Given the description of an element on the screen output the (x, y) to click on. 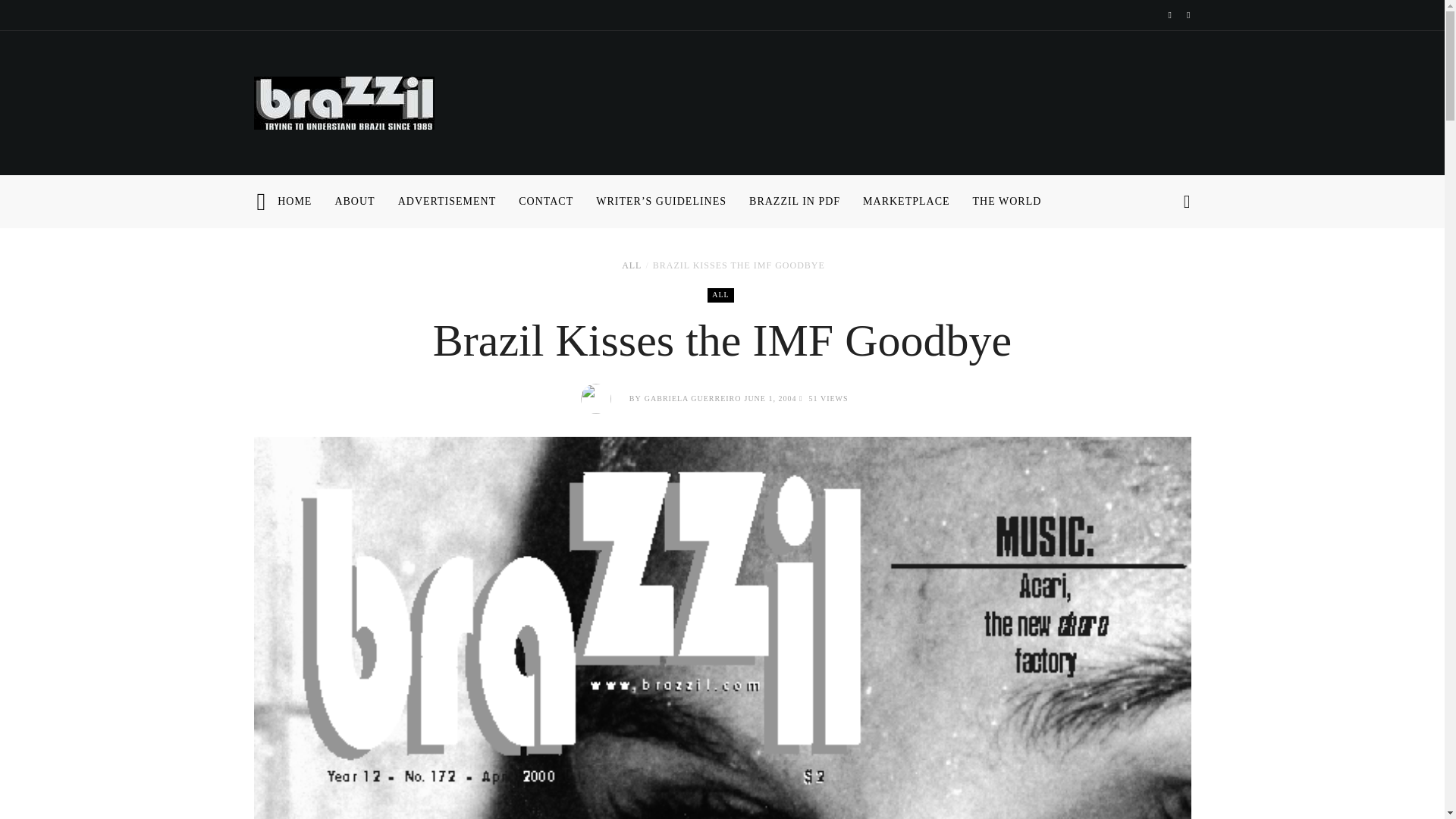
View all posts in 1 (720, 295)
